Given the description of an element on the screen output the (x, y) to click on. 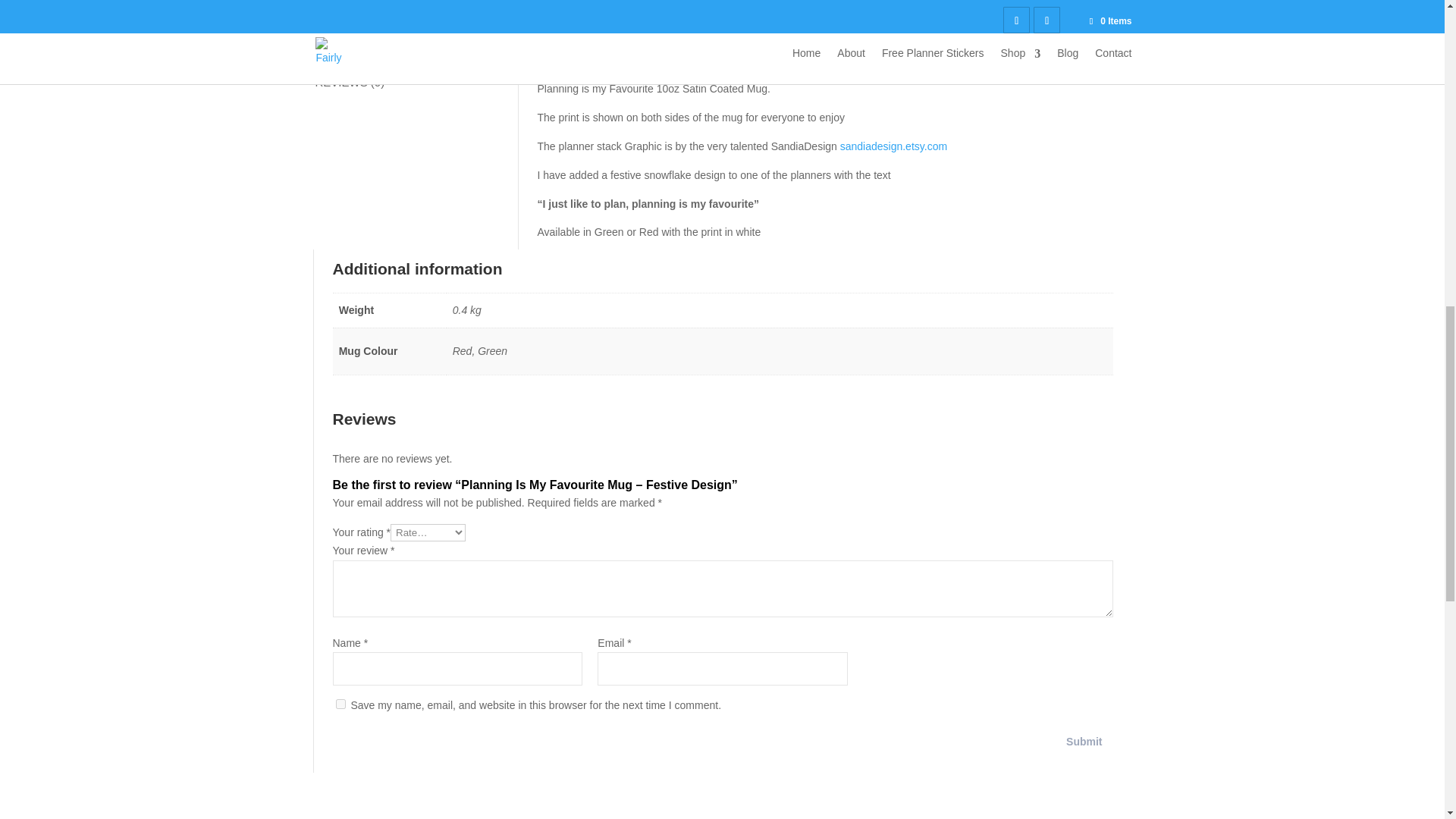
Submit (1083, 741)
DESCRIPTION (414, 18)
ADDITIONAL INFORMATION (414, 51)
yes (339, 704)
